Given the description of an element on the screen output the (x, y) to click on. 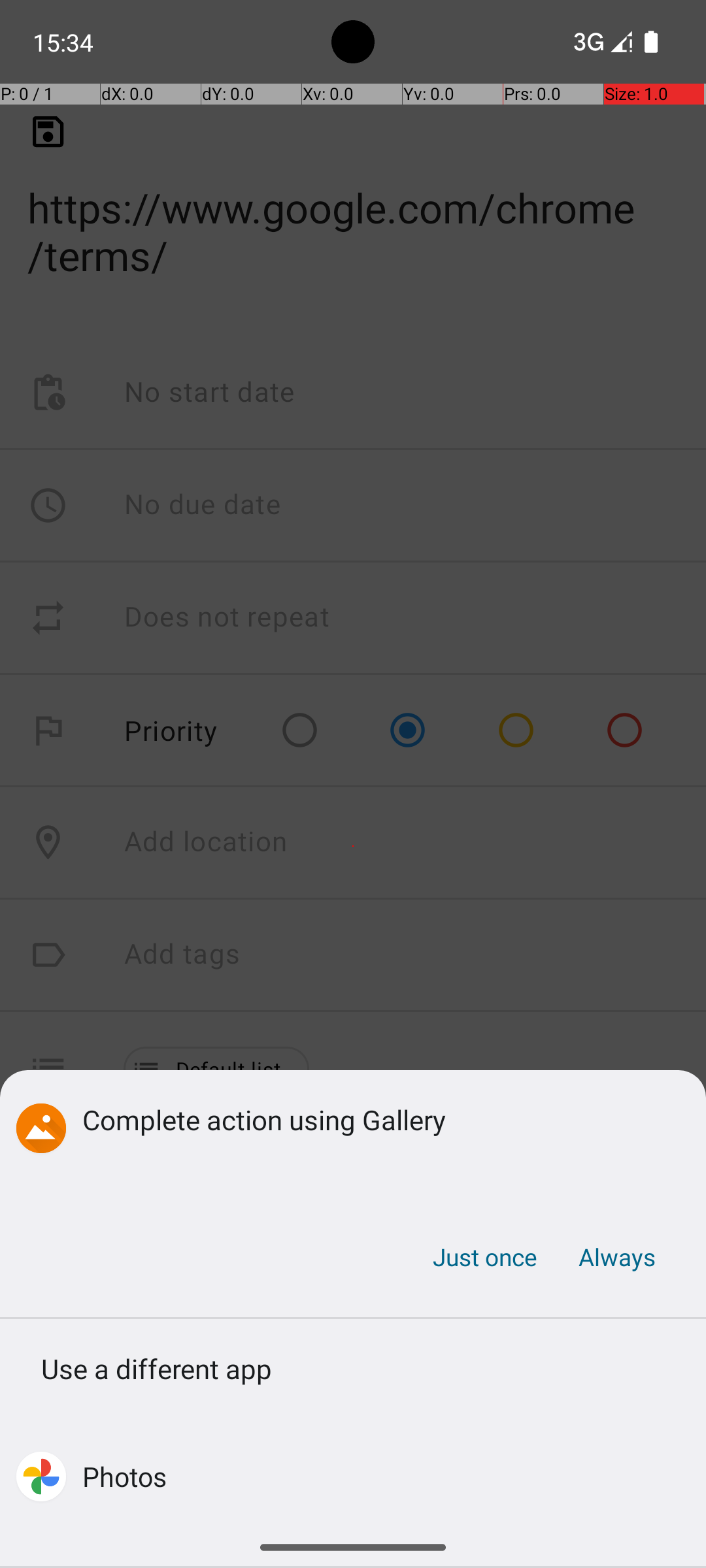
Complete action using Gallery Element type: android.widget.TextView (373, 1119)
Just once Element type: android.widget.Button (484, 1256)
Always Element type: android.widget.Button (616, 1256)
Use a different app Element type: android.widget.TextView (353, 1373)
Photos Element type: android.widget.TextView (124, 1475)
